Given the description of an element on the screen output the (x, y) to click on. 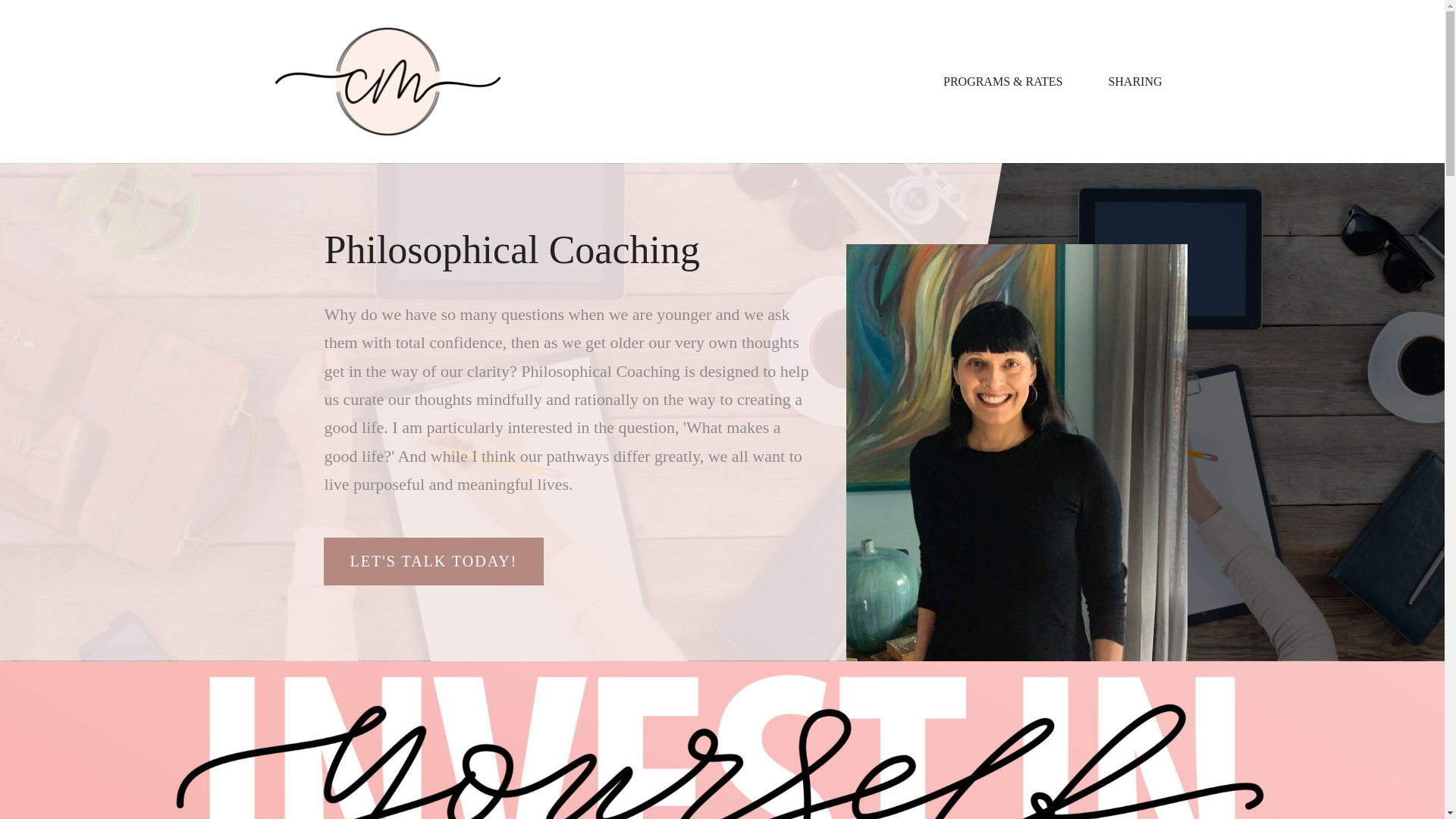
LET'S TALK TODAY! (433, 561)
SHARING (1134, 81)
Logo Transparent (387, 81)
